Given the description of an element on the screen output the (x, y) to click on. 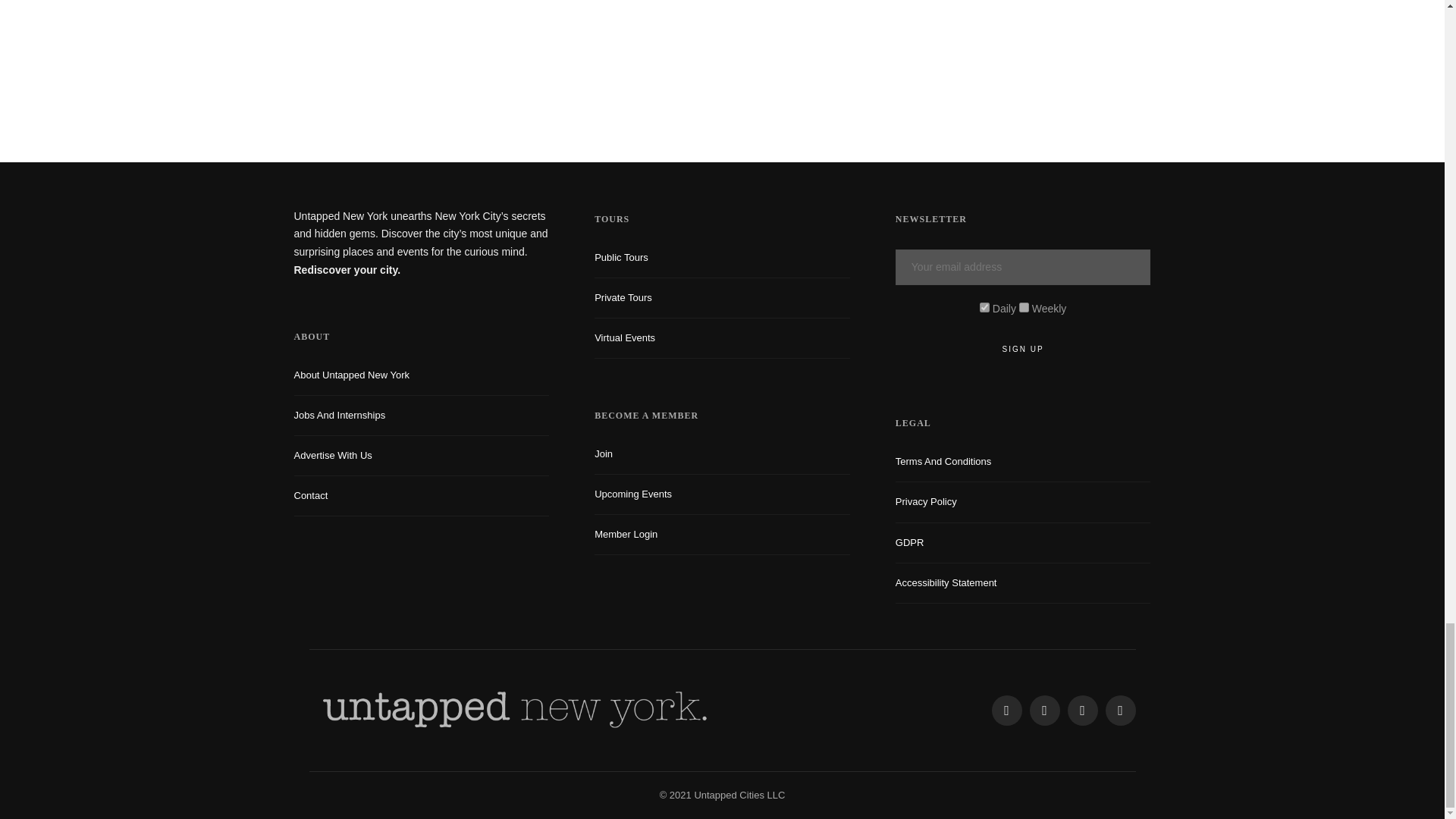
7cff6a70fd (1024, 307)
e99a09560c (984, 307)
Sign up (1023, 349)
